Given the description of an element on the screen output the (x, y) to click on. 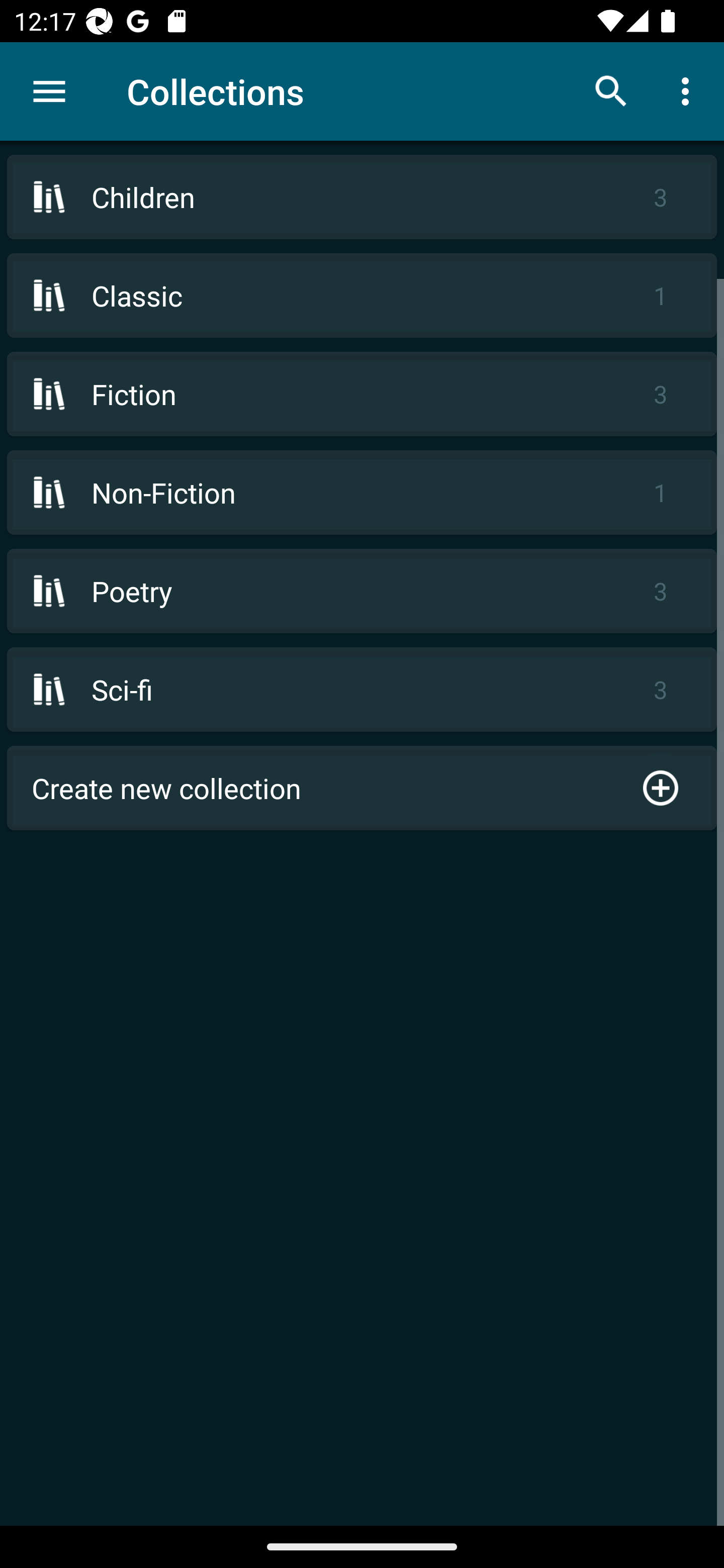
Menu (49, 91)
Search books & documents (611, 90)
More options (688, 90)
Children 3 (361, 197)
Classic 1 (361, 295)
Fiction 3 (361, 393)
Non-Fiction 1 (361, 492)
Poetry 3 (361, 590)
Sci-fi 3 (361, 689)
Create new collection (361, 787)
